Given the description of an element on the screen output the (x, y) to click on. 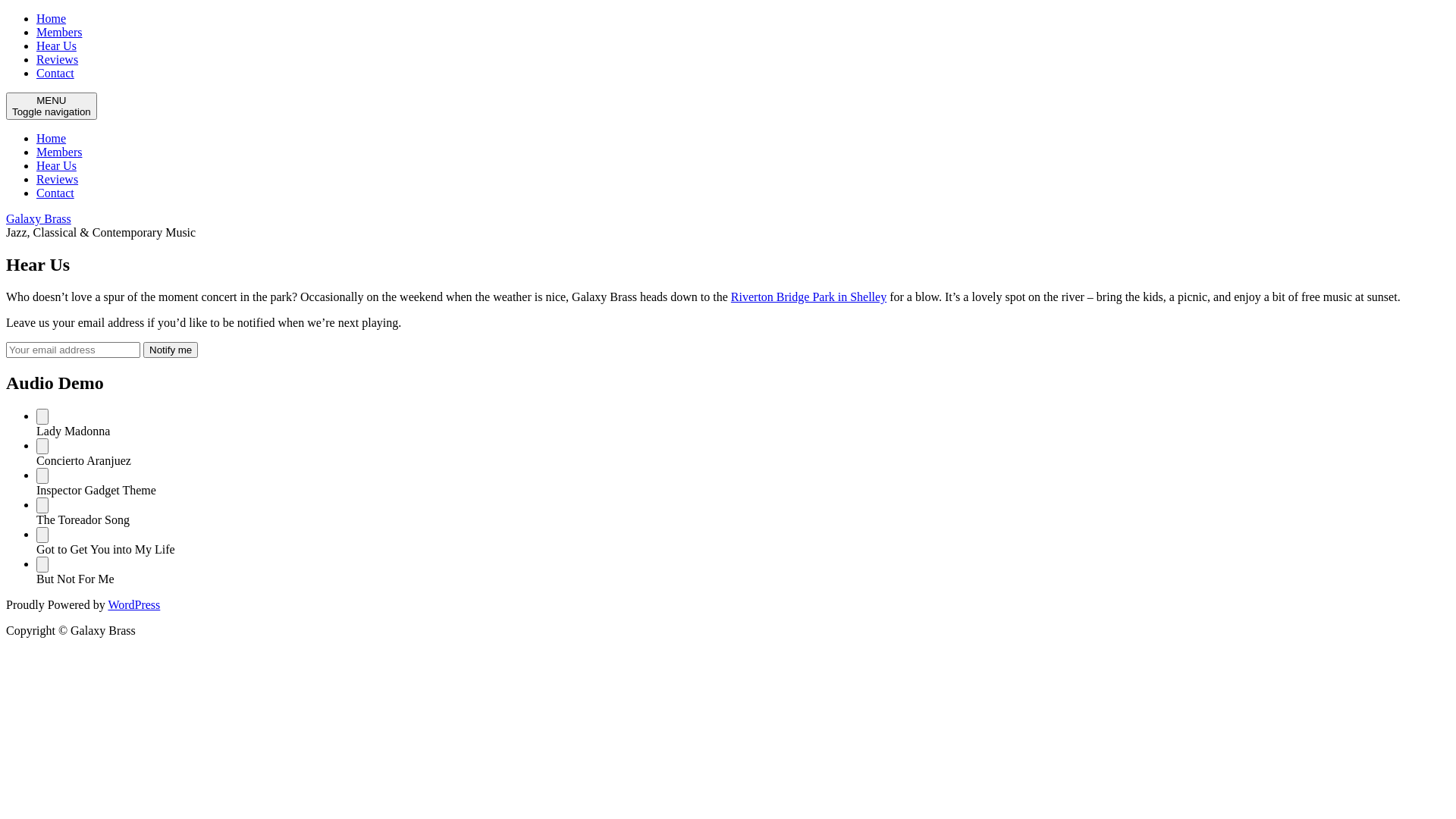
Riverton Bridge Park in Shelley Element type: text (808, 296)
Contact Element type: text (55, 72)
WordPress Element type: text (133, 604)
Members Element type: text (58, 151)
Hear Us Element type: text (56, 165)
Galaxy Brass Element type: text (38, 218)
Members Element type: text (58, 31)
Home Element type: text (50, 18)
Contact Element type: text (55, 192)
Notify me Element type: text (170, 349)
Reviews Element type: text (57, 178)
Hear Us Element type: text (56, 45)
Home Element type: text (50, 137)
MENU
Toggle navigation Element type: text (51, 105)
Reviews Element type: text (57, 59)
